Given the description of an element on the screen output the (x, y) to click on. 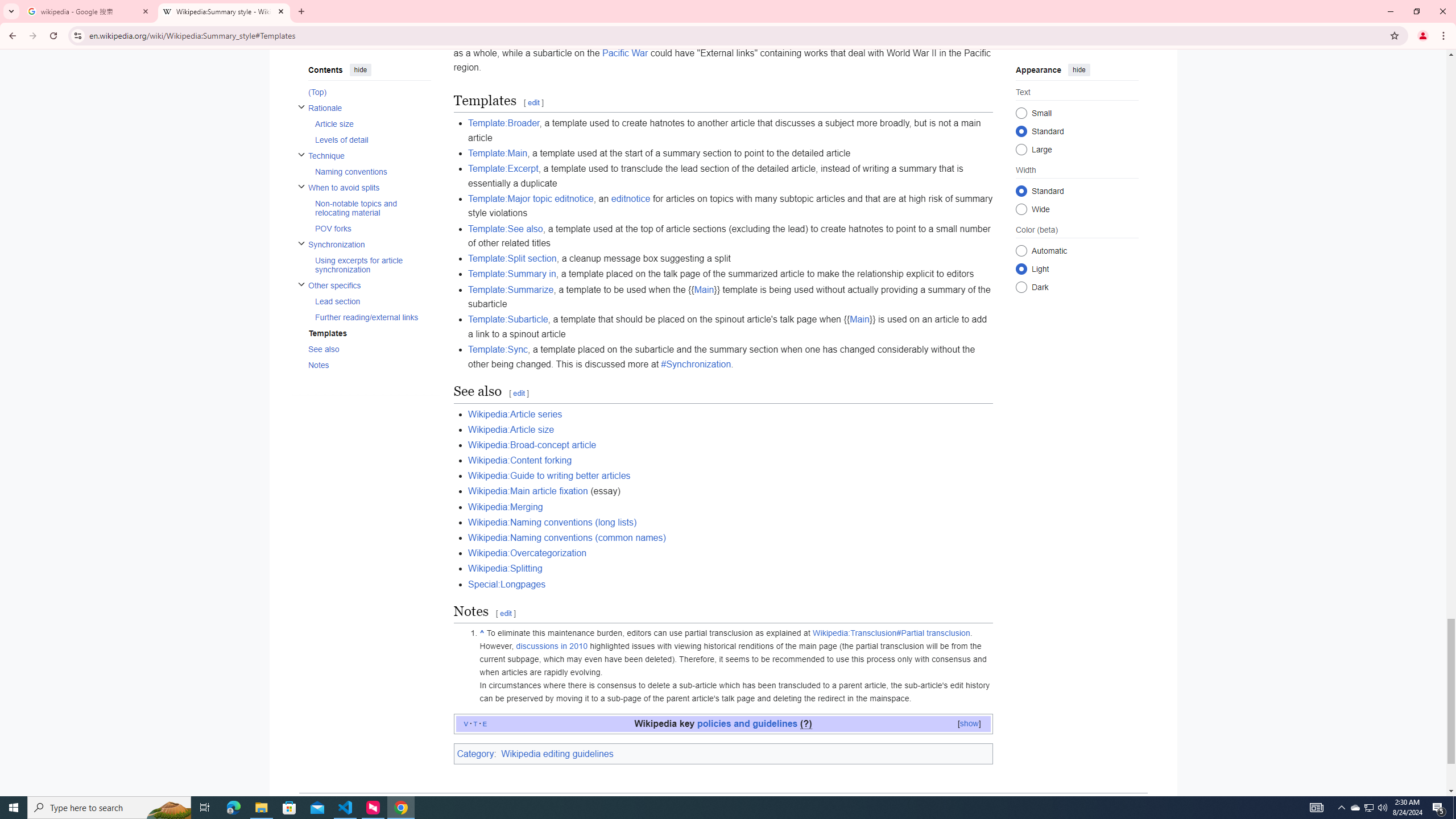
Wikipedia:Transclusion#Partial transclusion (891, 633)
Template:Sync (497, 349)
Toggle Synchronization subsection (300, 242)
Synchronization (368, 243)
Levels of detail (372, 139)
AutomationID: toc-Non-notable_topics_and_relocating_material (368, 207)
AutomationID: toc-Rationale (365, 123)
Other specifics (368, 284)
Wikipedia:Naming conventions (long lists) (552, 521)
Wikipedia:Merging (505, 506)
e (484, 723)
AutomationID: toc-Templates (365, 333)
